Given the description of an element on the screen output the (x, y) to click on. 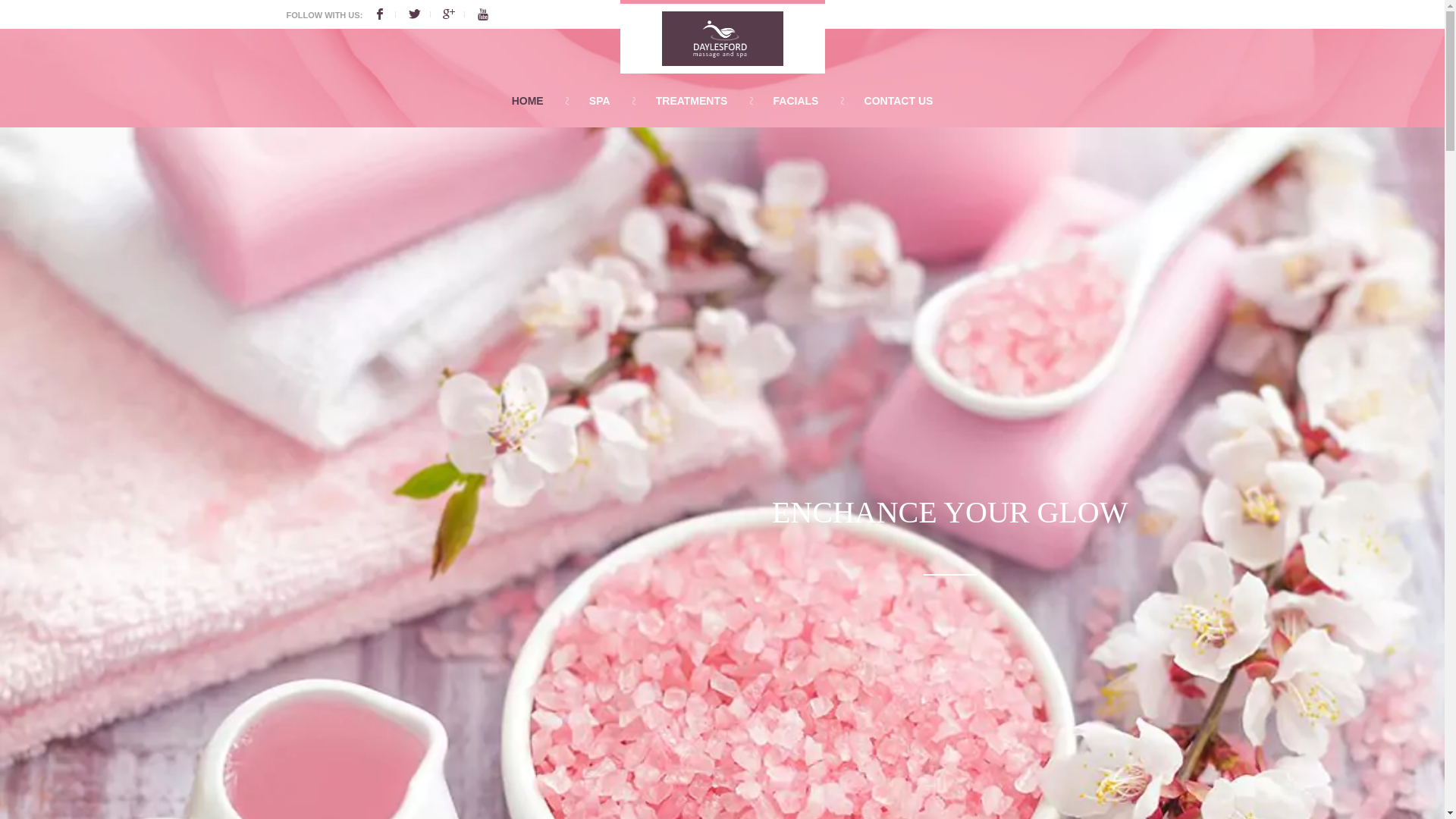
Youtube Element type: hover (482, 14)
Google Element type: hover (457, 14)
FACIALS Element type: text (796, 100)
TREATMENTS Element type: text (691, 100)
Facebook Element type: hover (388, 14)
CONTACT US Element type: text (898, 100)
SPA Element type: text (599, 100)
HOME Element type: text (527, 100)
Twitter Element type: hover (423, 14)
